Given the description of an element on the screen output the (x, y) to click on. 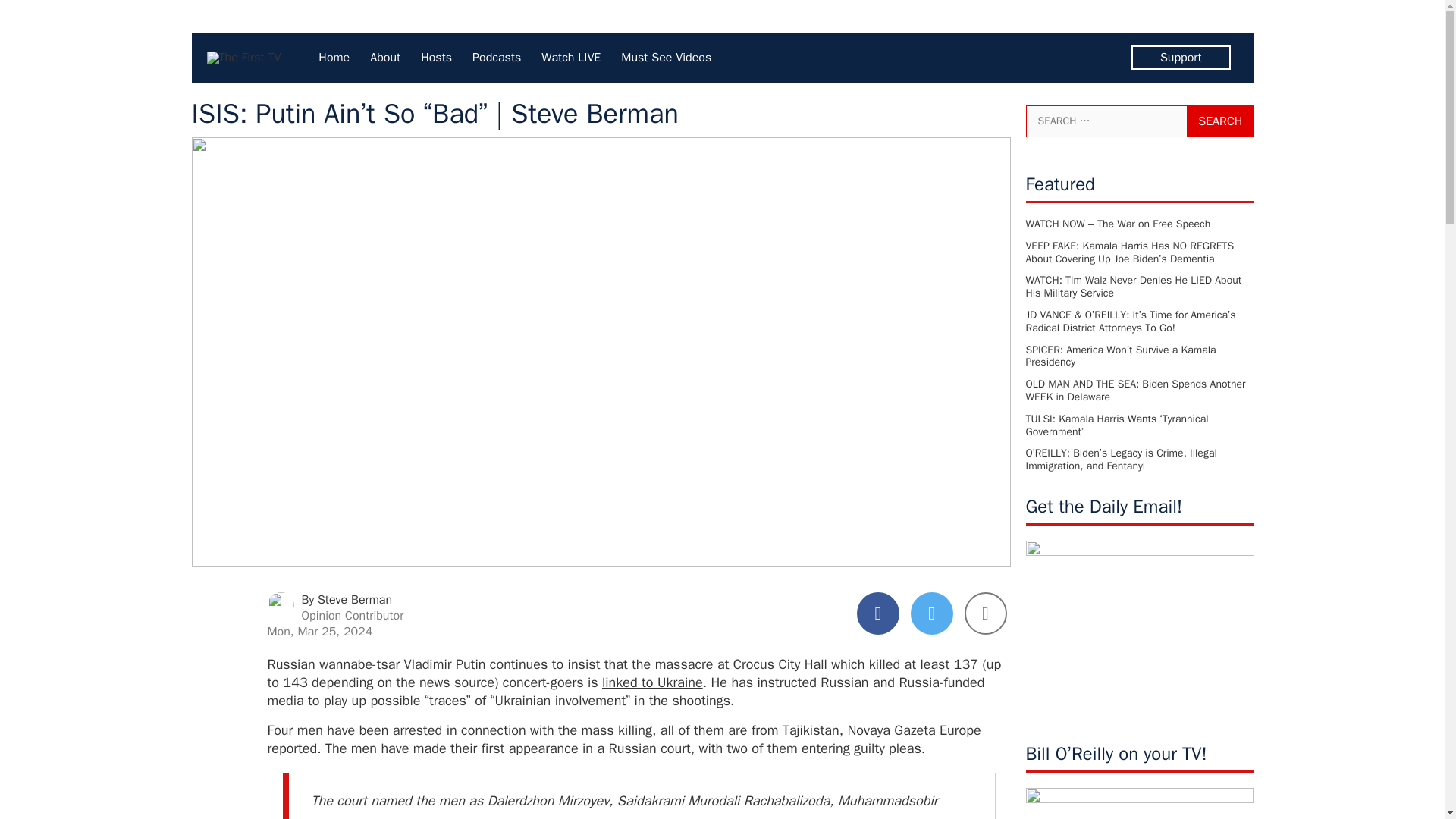
Podcasts (496, 57)
Search (1220, 121)
Watch LIVE (571, 57)
Novaya Gazeta Europe (913, 729)
Bill O'Reilly is back! (1138, 803)
About (384, 57)
massacre (684, 664)
By Steve Berman (347, 599)
linked to Ukraine (652, 682)
Search (1220, 121)
